Given the description of an element on the screen output the (x, y) to click on. 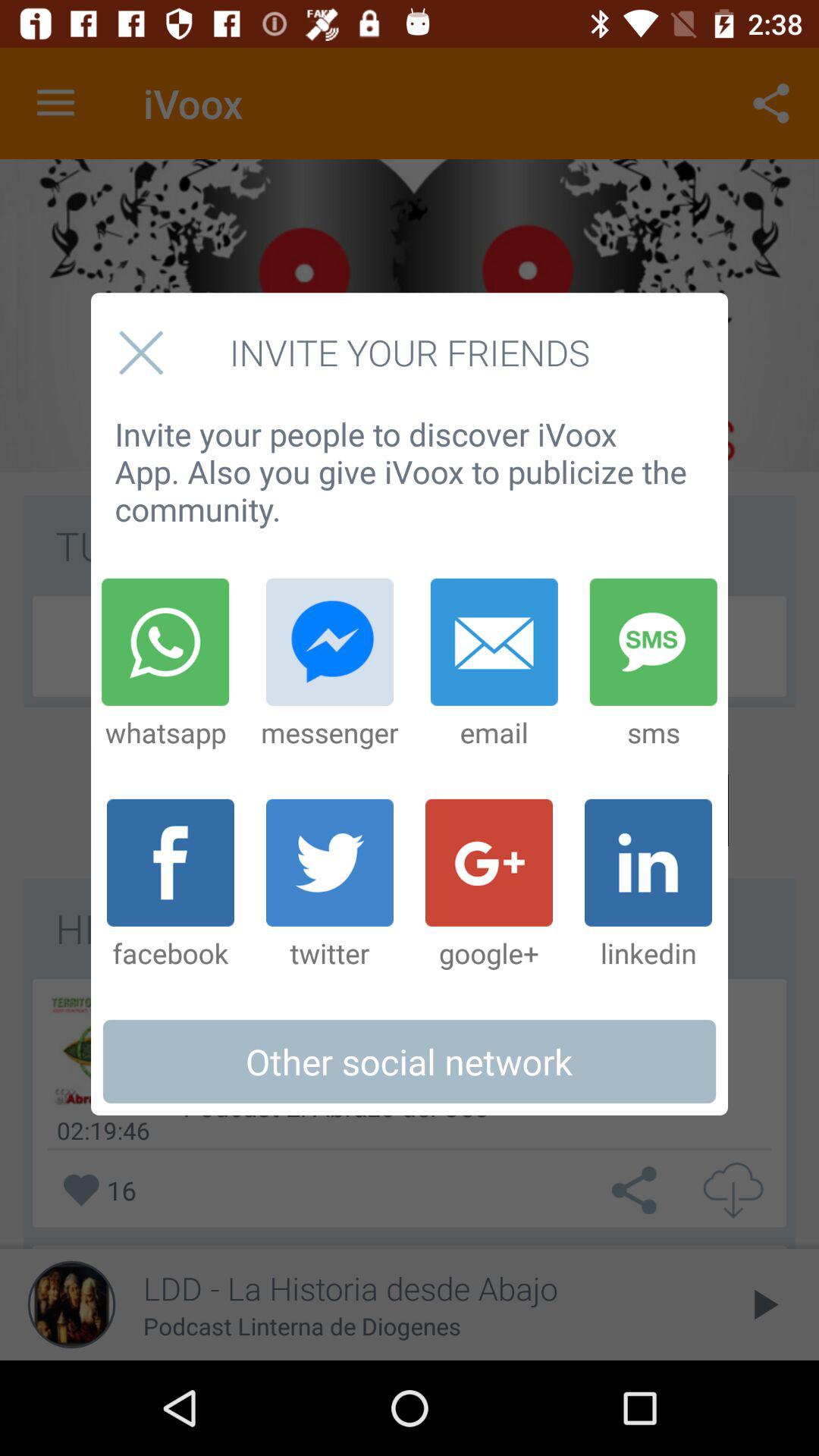
turn off the item next to the messenger item (493, 664)
